Given the description of an element on the screen output the (x, y) to click on. 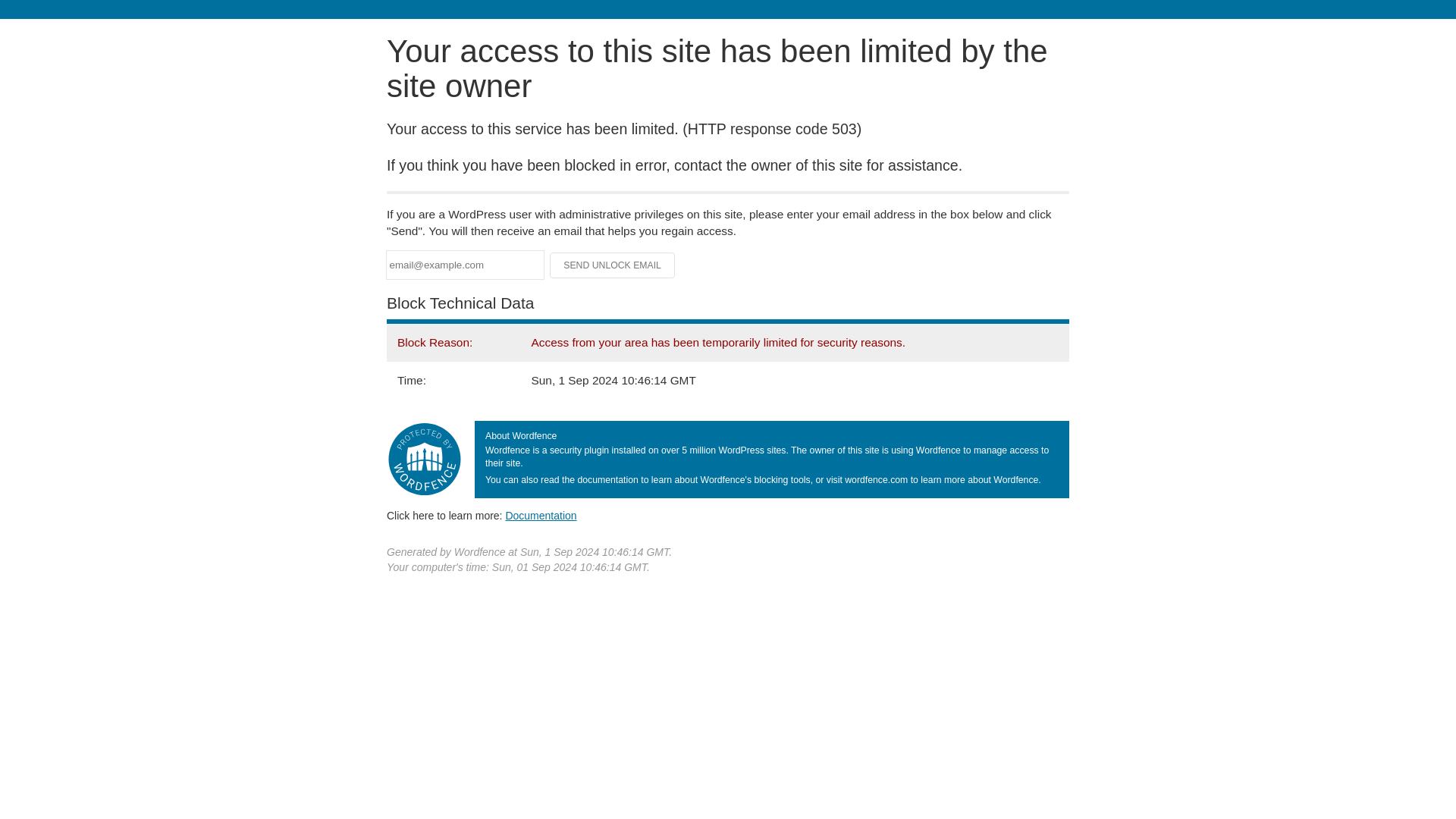
Documentation (540, 515)
Send Unlock Email (612, 265)
Send Unlock Email (612, 265)
